Given the description of an element on the screen output the (x, y) to click on. 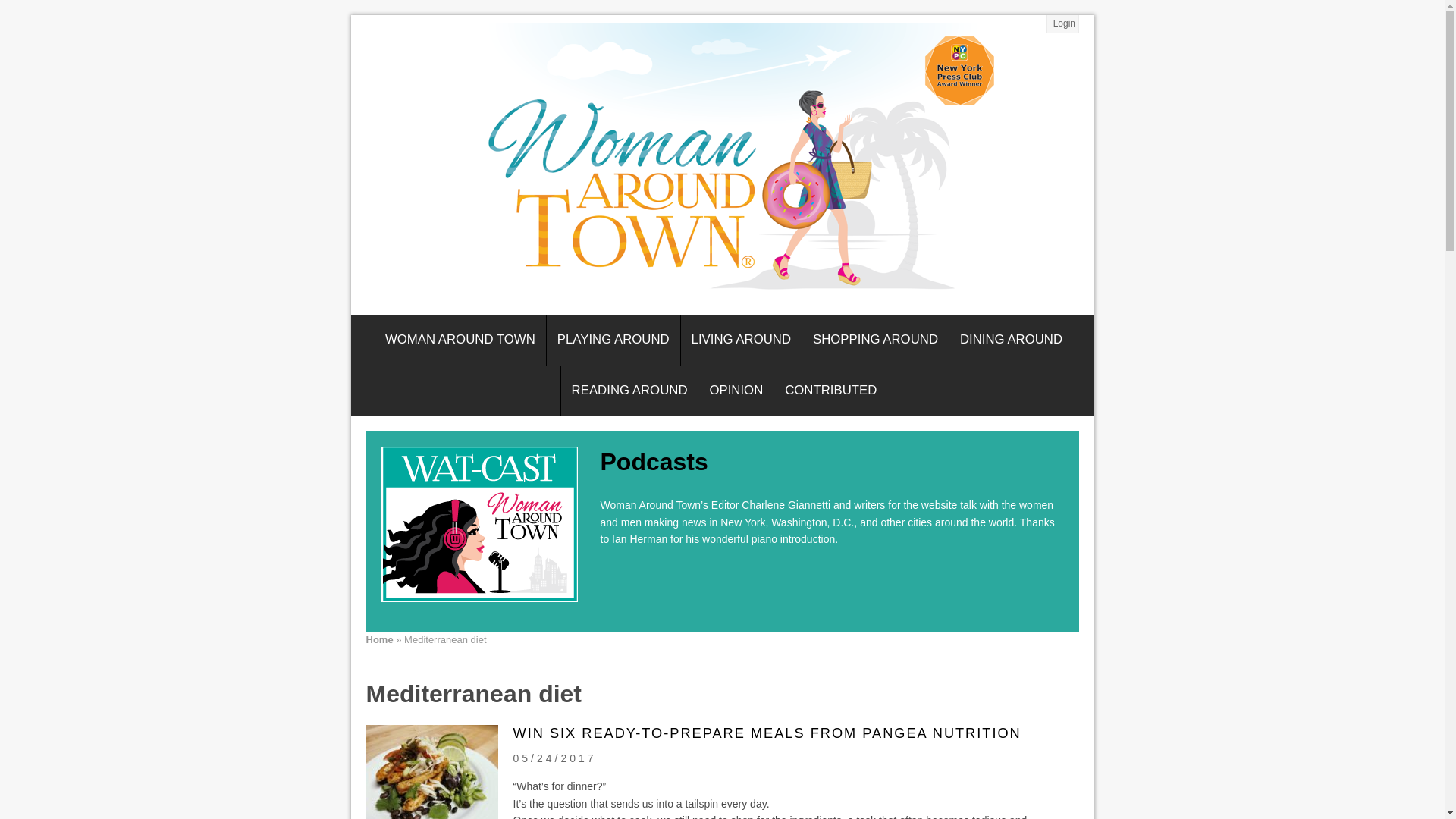
Login (1063, 23)
READING AROUND (629, 390)
SHOPPING AROUND (875, 339)
WIN SIX READY-TO-PREPARE MEALS FROM PANGEA NUTRITION (766, 733)
Home (379, 639)
LIVING AROUND (741, 339)
OPINION (735, 390)
PLAYING AROUND (613, 339)
DINING AROUND (1011, 339)
